Given the description of an element on the screen output the (x, y) to click on. 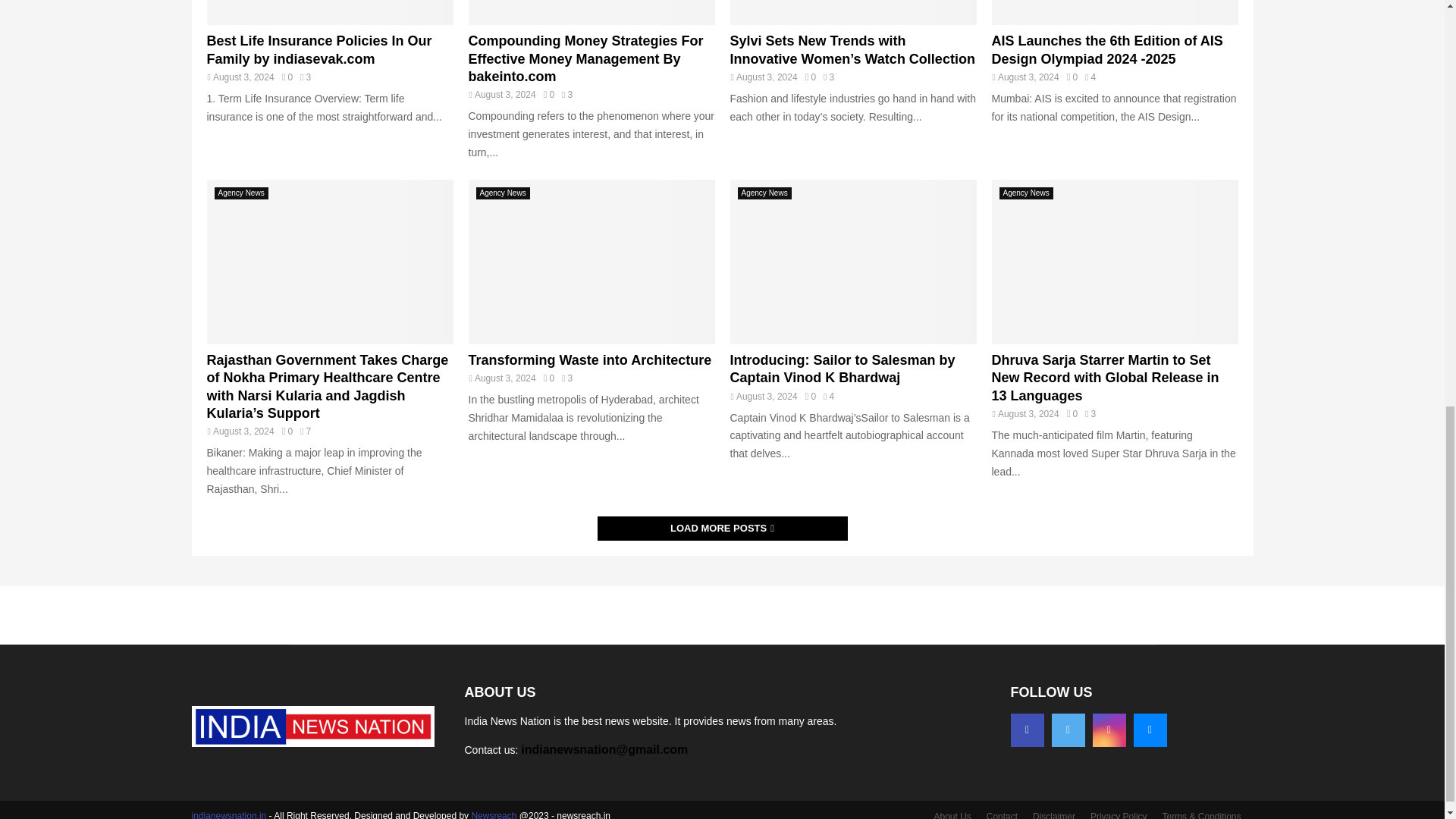
0 (287, 77)
View all posts in Agency News (240, 193)
0 (1072, 77)
0 (810, 77)
Best Life Insurance Policies In Our Family by indiasevak.com (318, 49)
Transforming Waste into Architecture (591, 261)
Best Life Insurance Policies In Our Family by indiasevak.com (329, 12)
0 (548, 94)
Agency News (240, 193)
0 (287, 430)
